Given the description of an element on the screen output the (x, y) to click on. 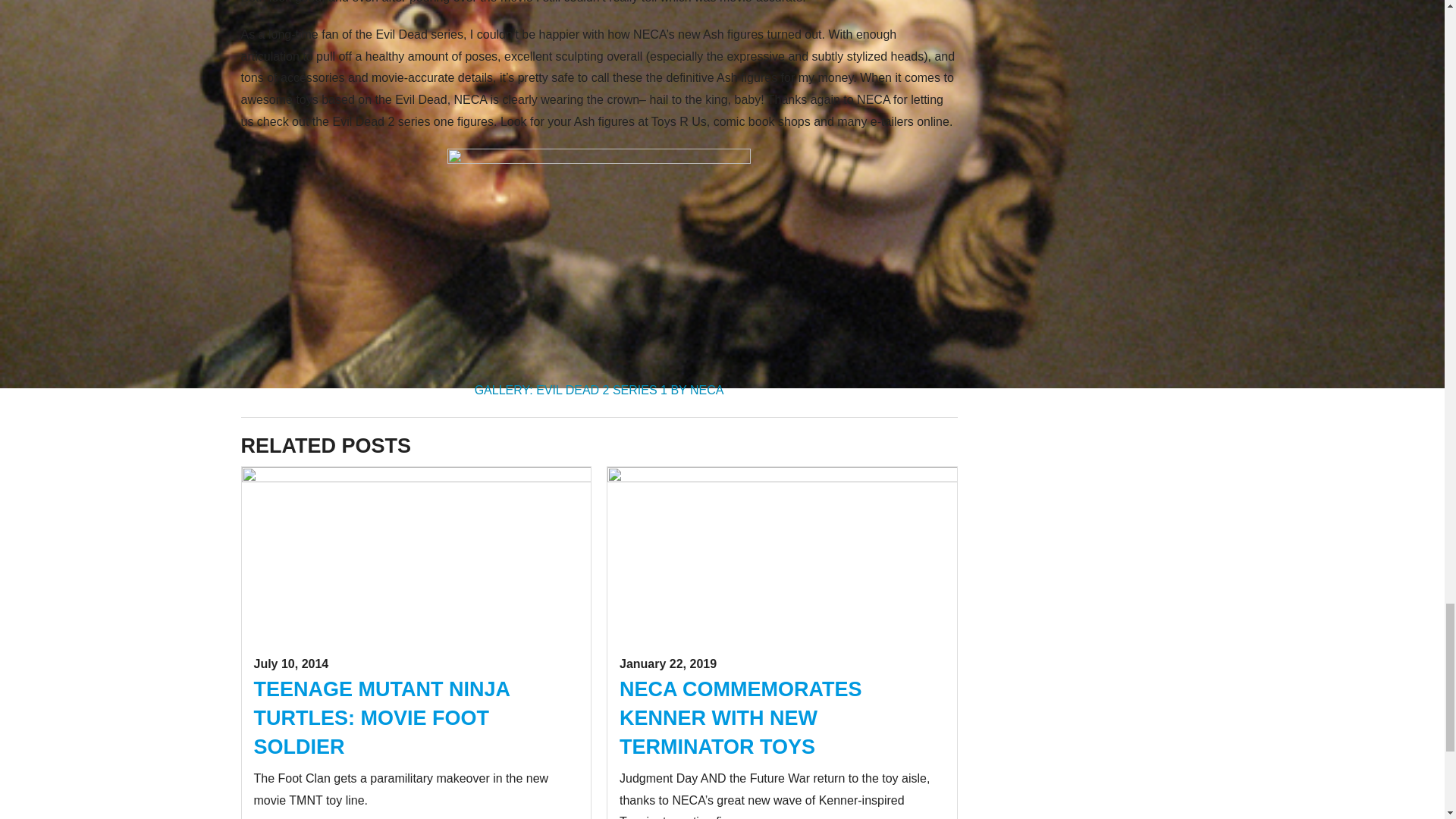
DEADITE ASH (598, 261)
TEENAGE MUTANT NINJA TURTLES: MOVIE FOOT SOLDIER (381, 718)
NECA COMMEMORATES KENNER WITH NEW TERMINATOR TOYS (740, 718)
GALLERY: EVIL DEAD 2 SERIES 1 BY NECA (598, 390)
